Given the description of an element on the screen output the (x, y) to click on. 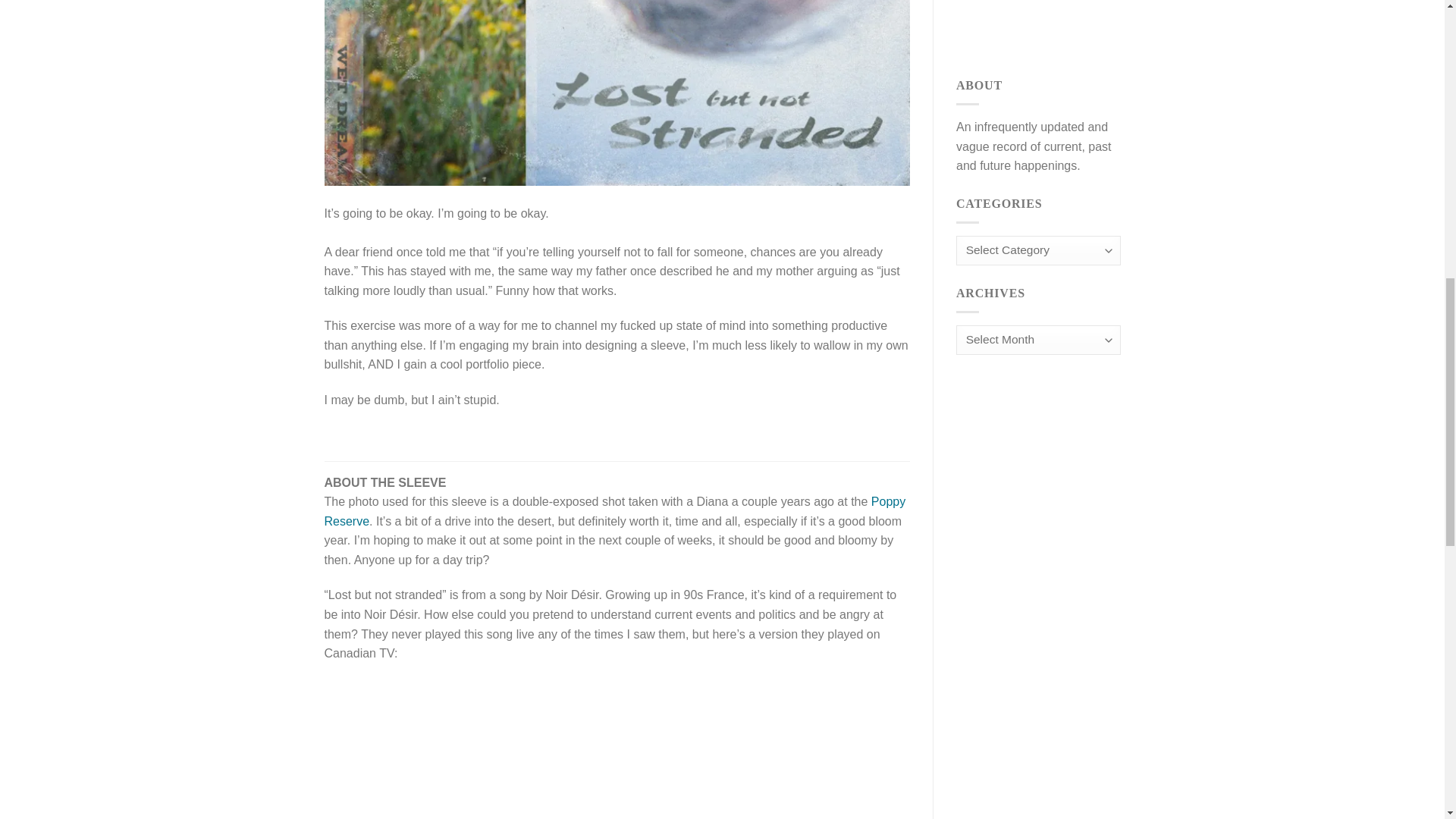
Antelope Valley Poppy Reserve (614, 511)
Poppy Reserve (614, 511)
